Given the description of an element on the screen output the (x, y) to click on. 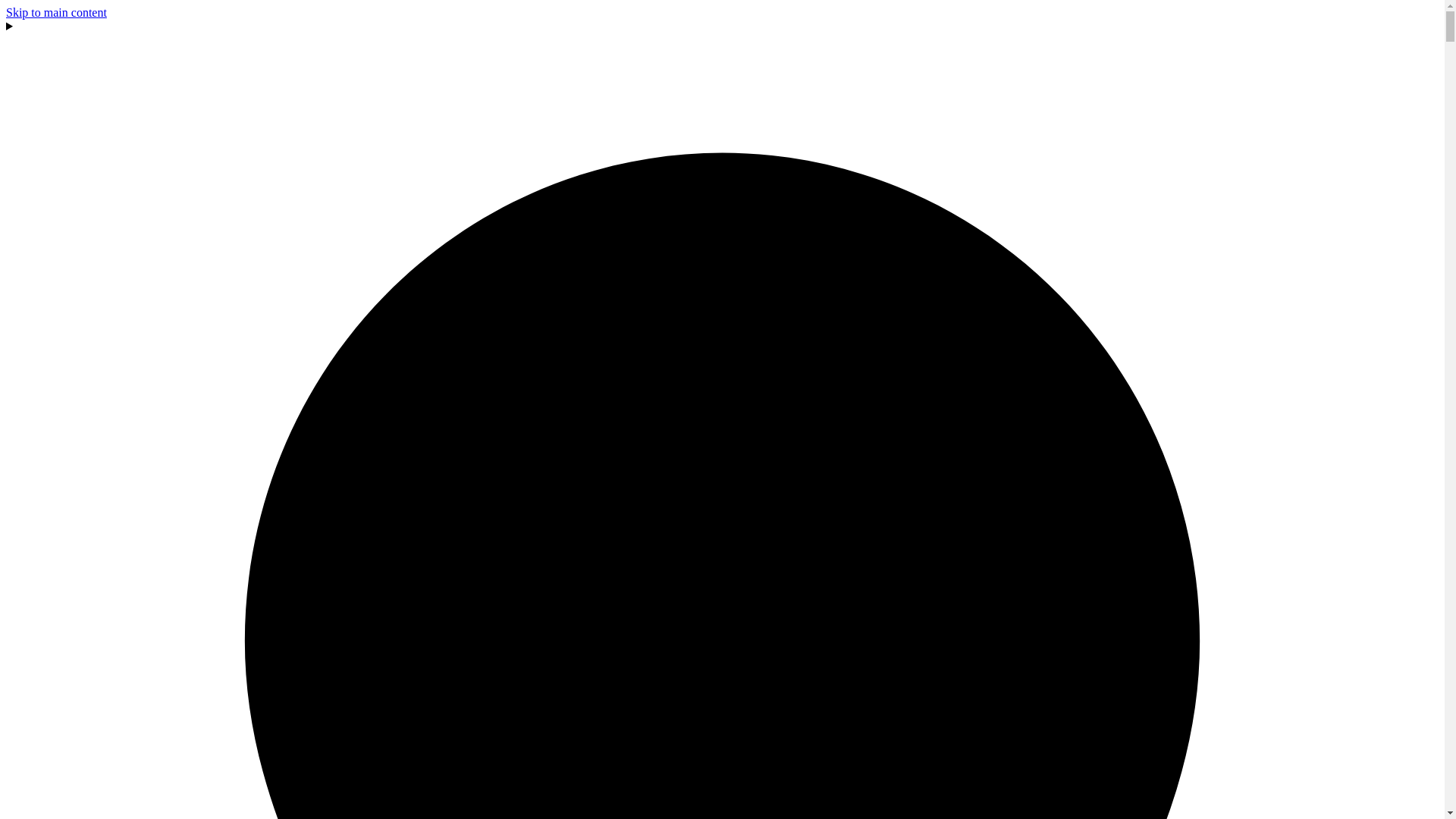
Skip to main content (55, 11)
